Given the description of an element on the screen output the (x, y) to click on. 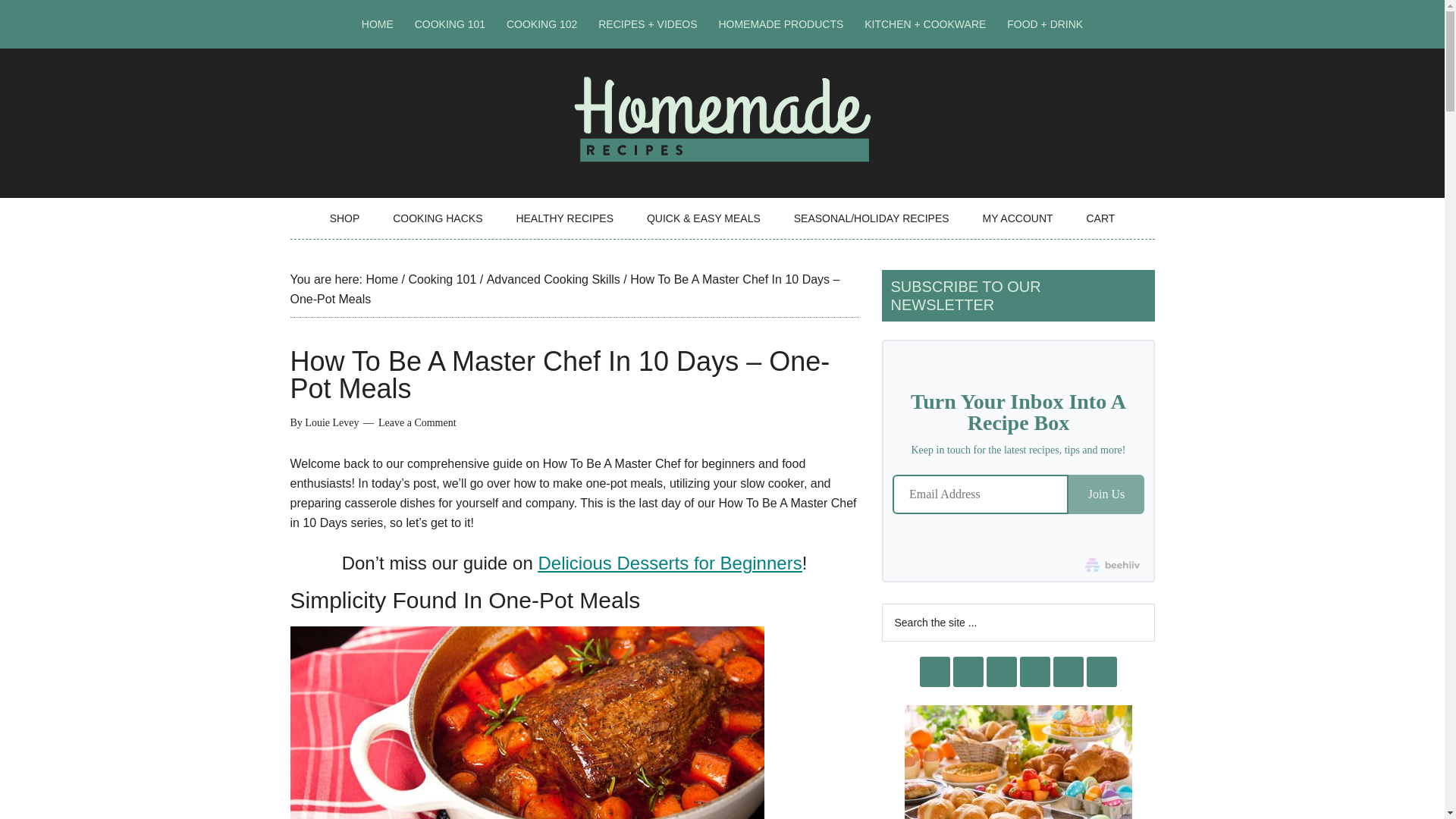
HOMEMADE PRODUCTS (780, 24)
Home (381, 278)
CART (1099, 218)
COOKING 102 (541, 24)
HOME (377, 24)
Louie Levey (331, 422)
Homemade Recipes (721, 158)
COOKING HACKS (437, 218)
SHOP (344, 218)
Delicious Desserts for Beginners (669, 562)
HEALTHY RECIPES (564, 218)
COOKING 101 (450, 24)
Cooking 101 (441, 278)
